Given the description of an element on the screen output the (x, y) to click on. 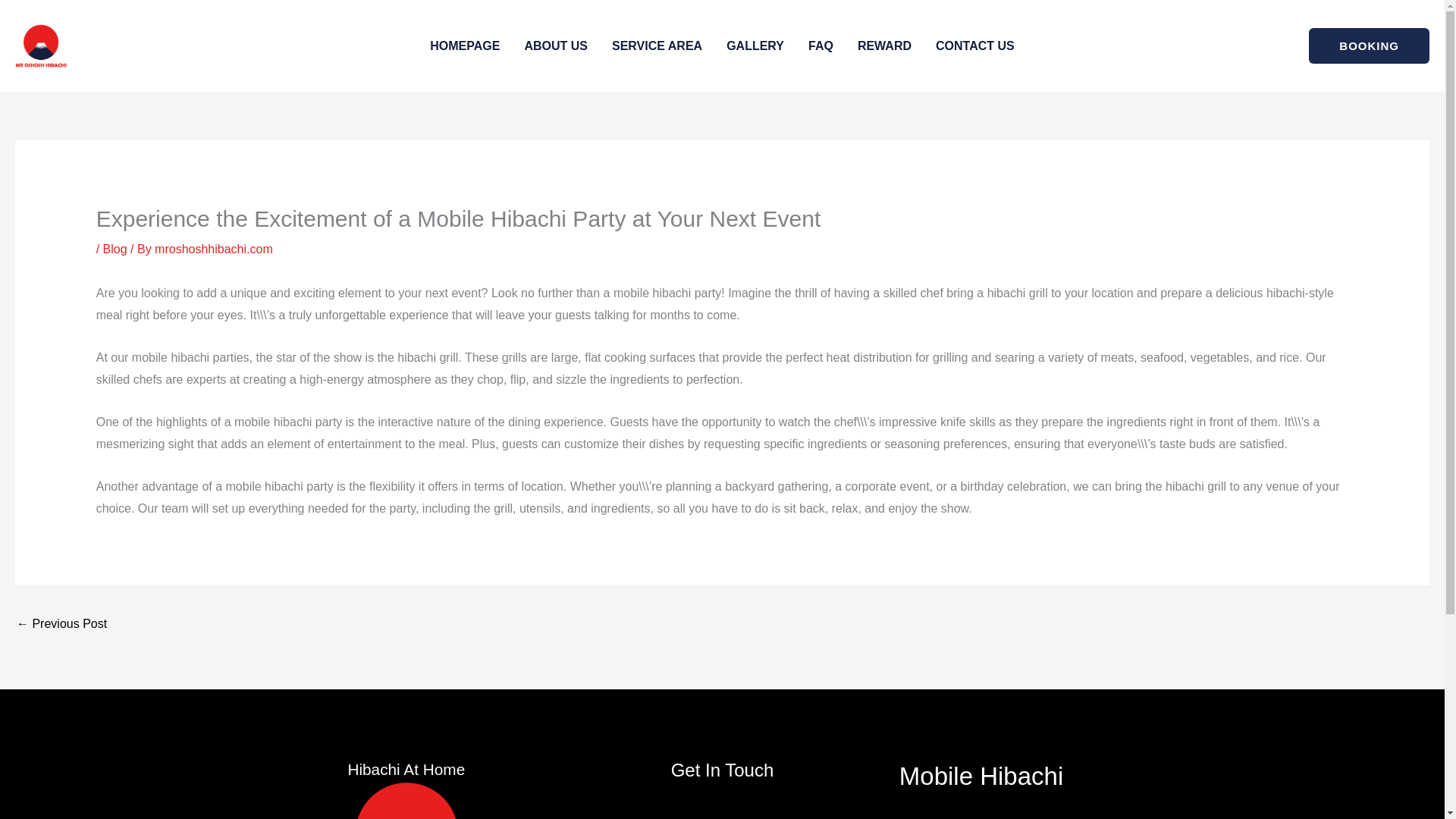
ABOUT US (555, 45)
REWARD (884, 45)
HOMEPAGE (464, 45)
Blog (115, 248)
FAQ (820, 45)
BOOKING (1368, 45)
CONTACT US (974, 45)
mroshoshhibachi.com (213, 248)
View all posts by mroshoshhibachi.com (213, 248)
